Given the description of an element on the screen output the (x, y) to click on. 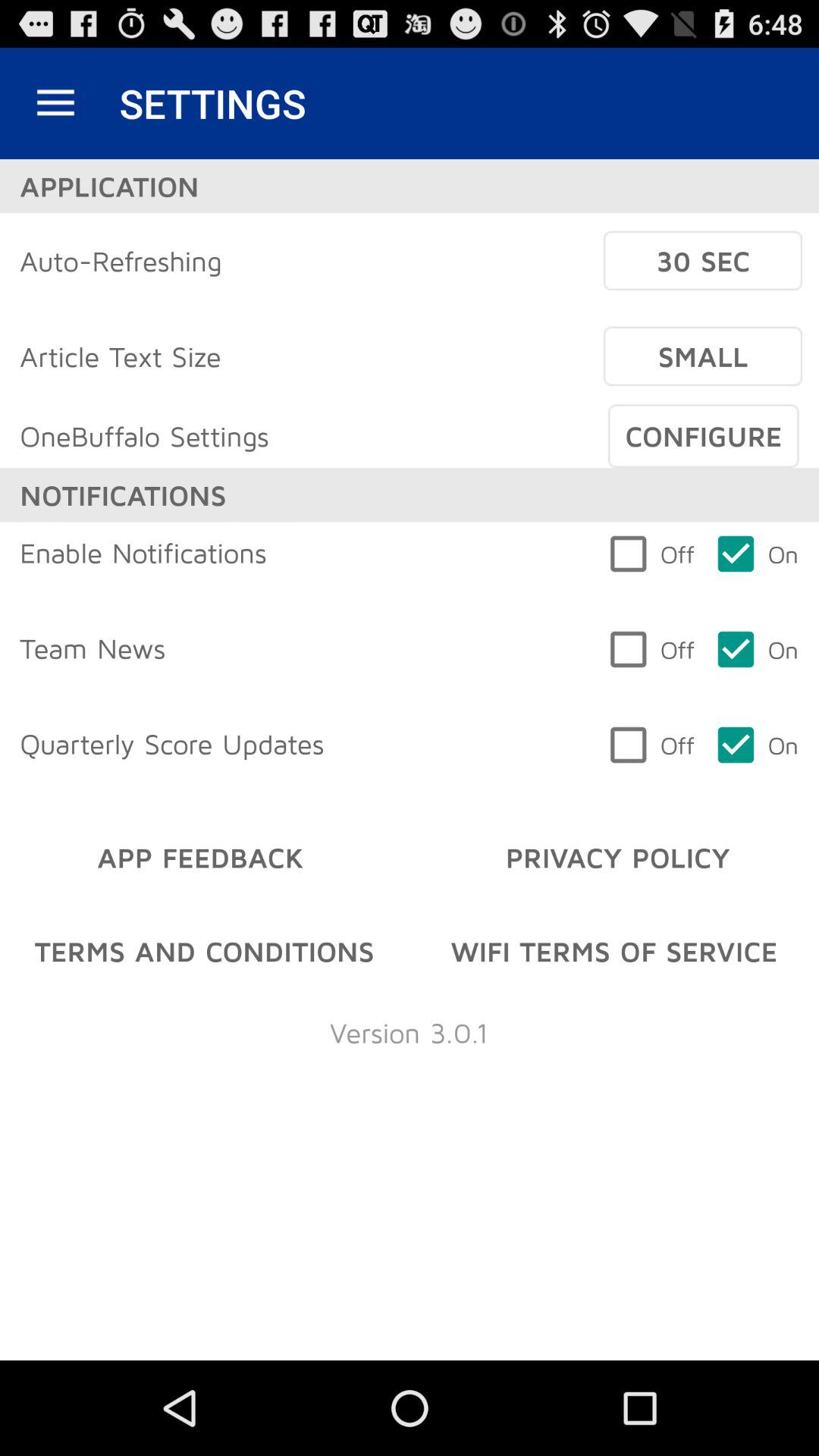
choose the item to the left of settings (55, 103)
